Given the description of an element on the screen output the (x, y) to click on. 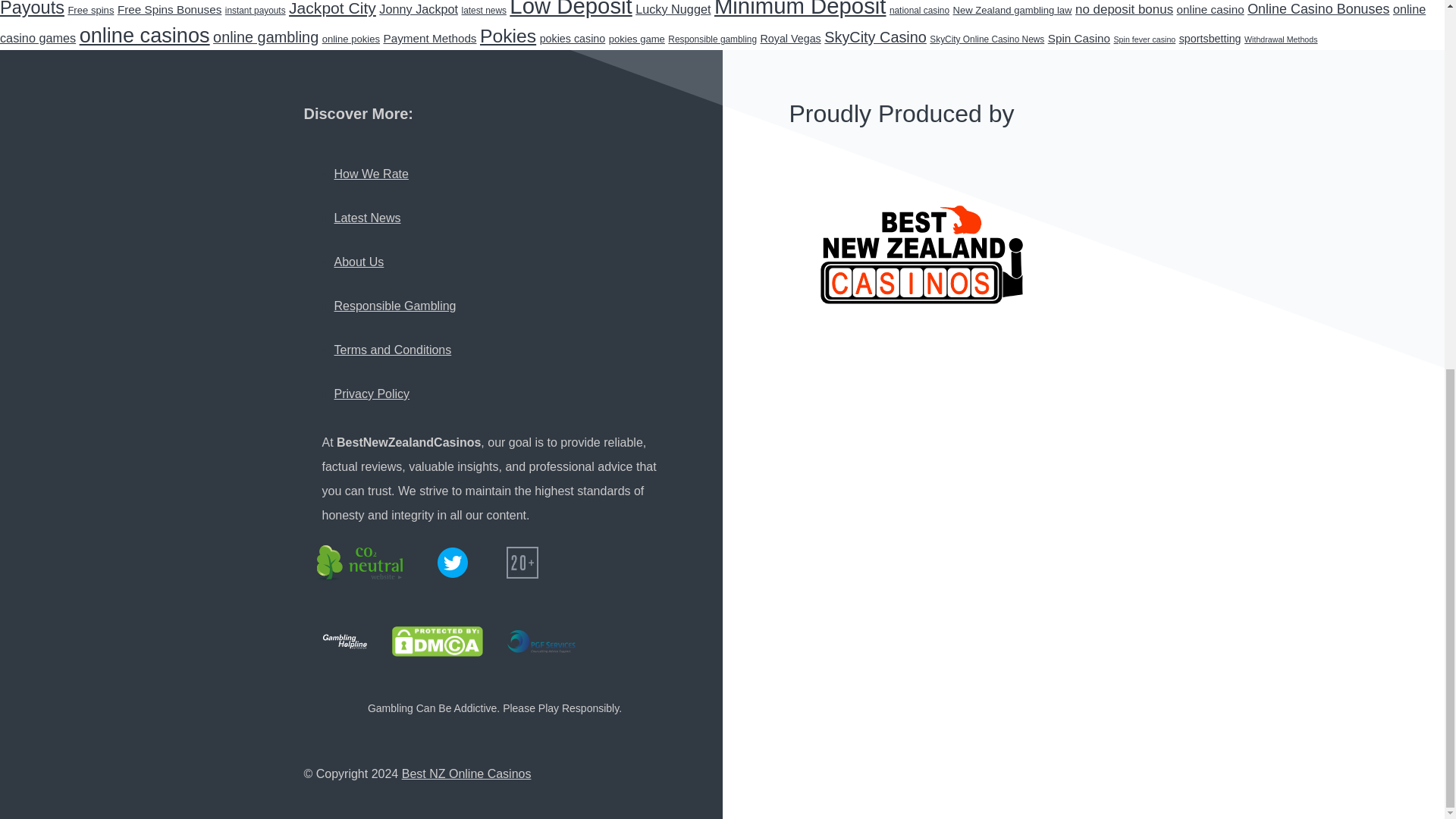
DMCA.com Protection Status (436, 641)
